Given the description of an element on the screen output the (x, y) to click on. 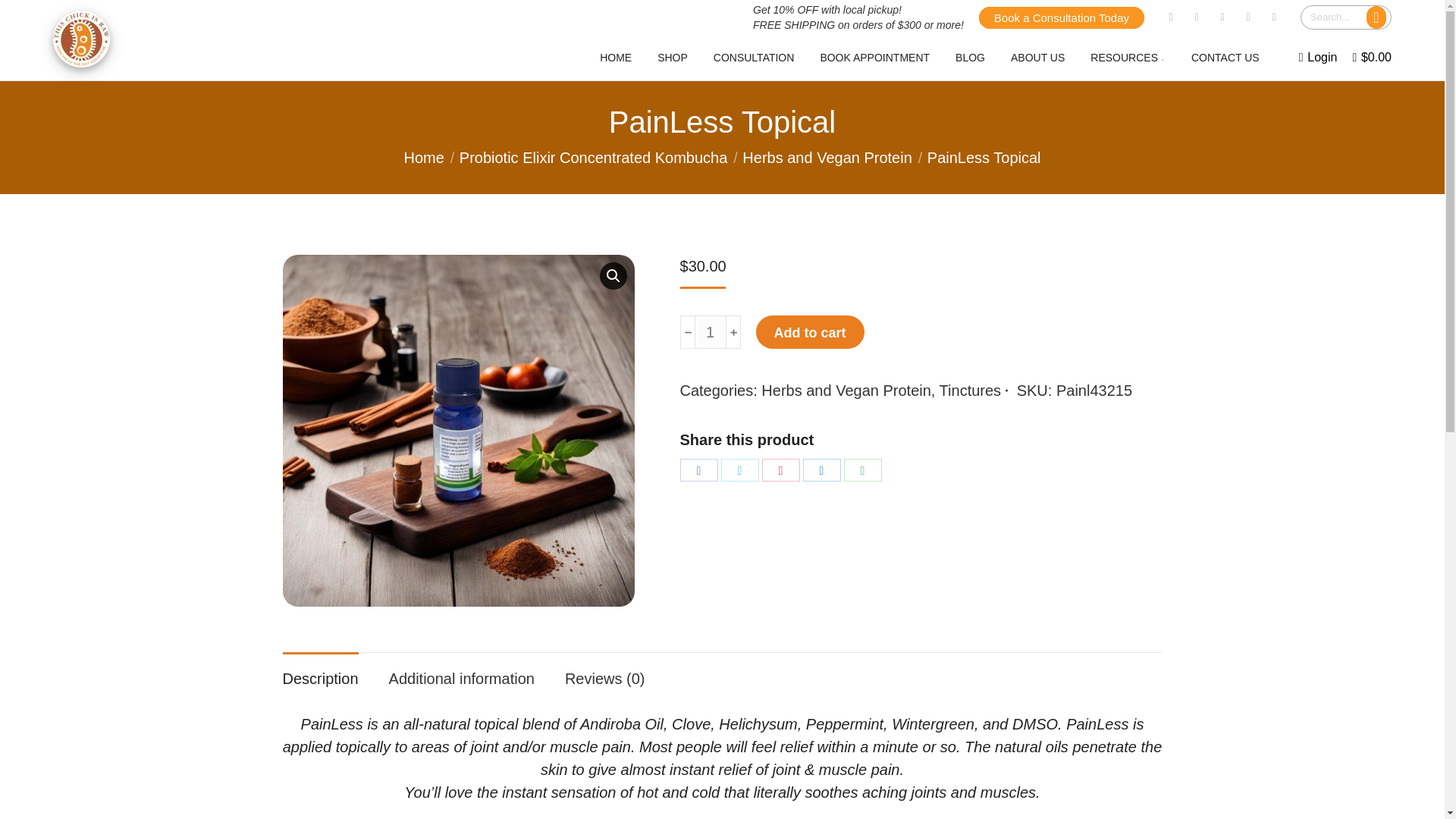
Facebook page opens in new window (1170, 16)
Login (1318, 57)
SHOP (672, 56)
Book a Consultation Today (1061, 16)
ABOUT US (1037, 56)
Facebook page opens in new window (1170, 16)
BLOG (970, 56)
BOOK APPOINTMENT (874, 56)
Pinterest page opens in new window (1247, 16)
Twitter page opens in new window (1196, 16)
Search form (1345, 16)
HOME (615, 56)
Linkedin page opens in new window (1273, 16)
CONSULTATION (753, 56)
Twitter page opens in new window (1196, 16)
